Given the description of an element on the screen output the (x, y) to click on. 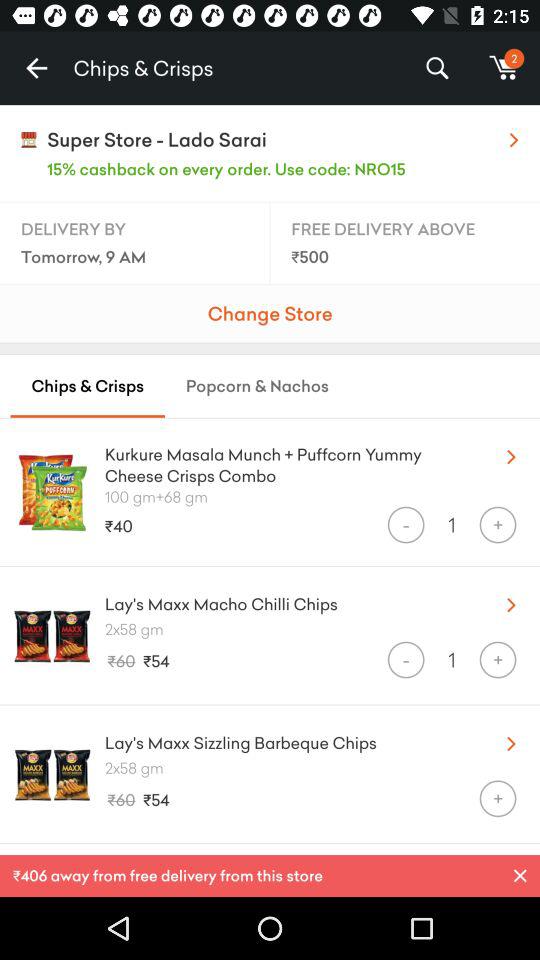
turn on item to the left of u (288, 460)
